Given the description of an element on the screen output the (x, y) to click on. 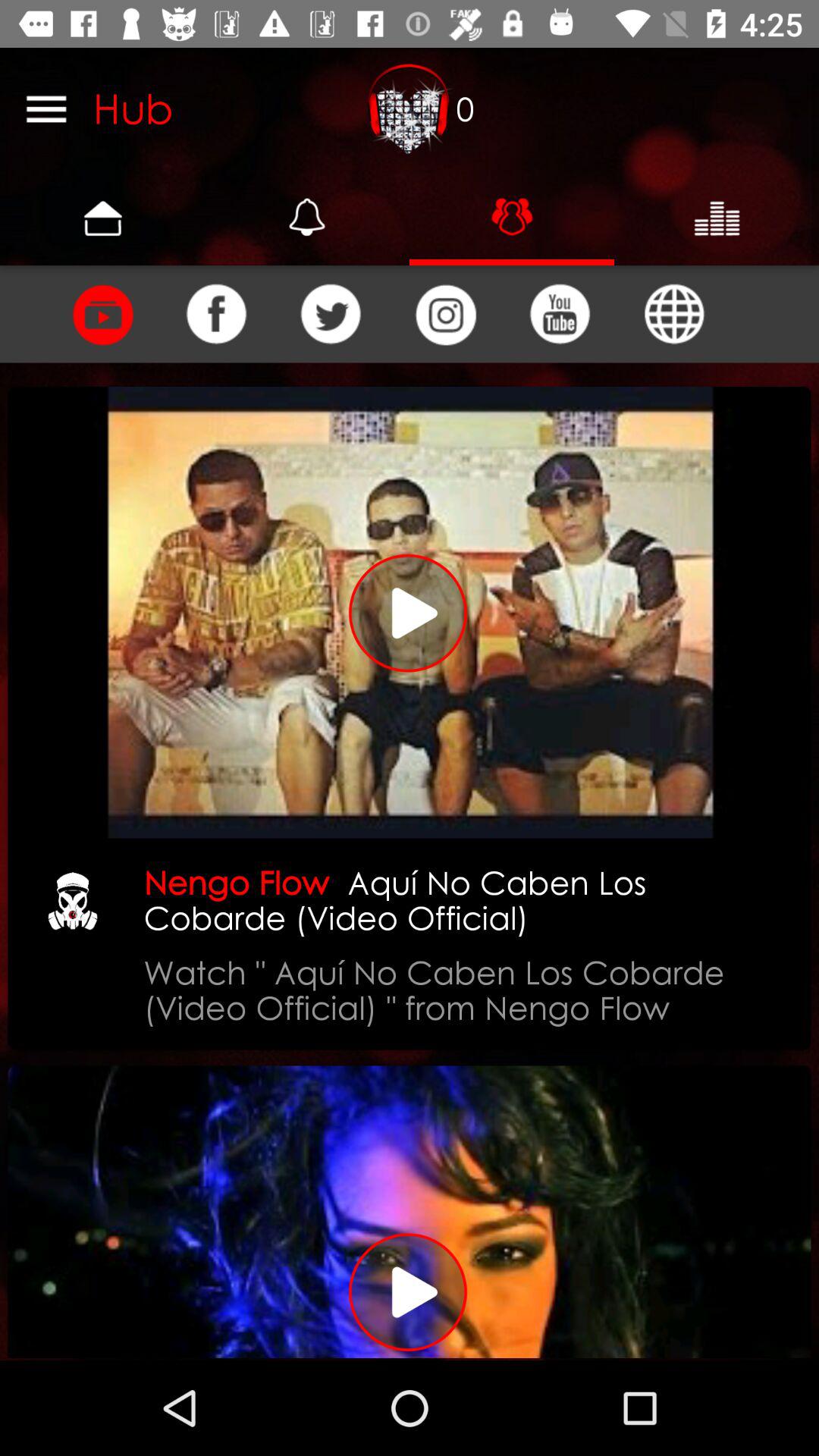
open the icon next to hub icon (45, 108)
